Given the description of an element on the screen output the (x, y) to click on. 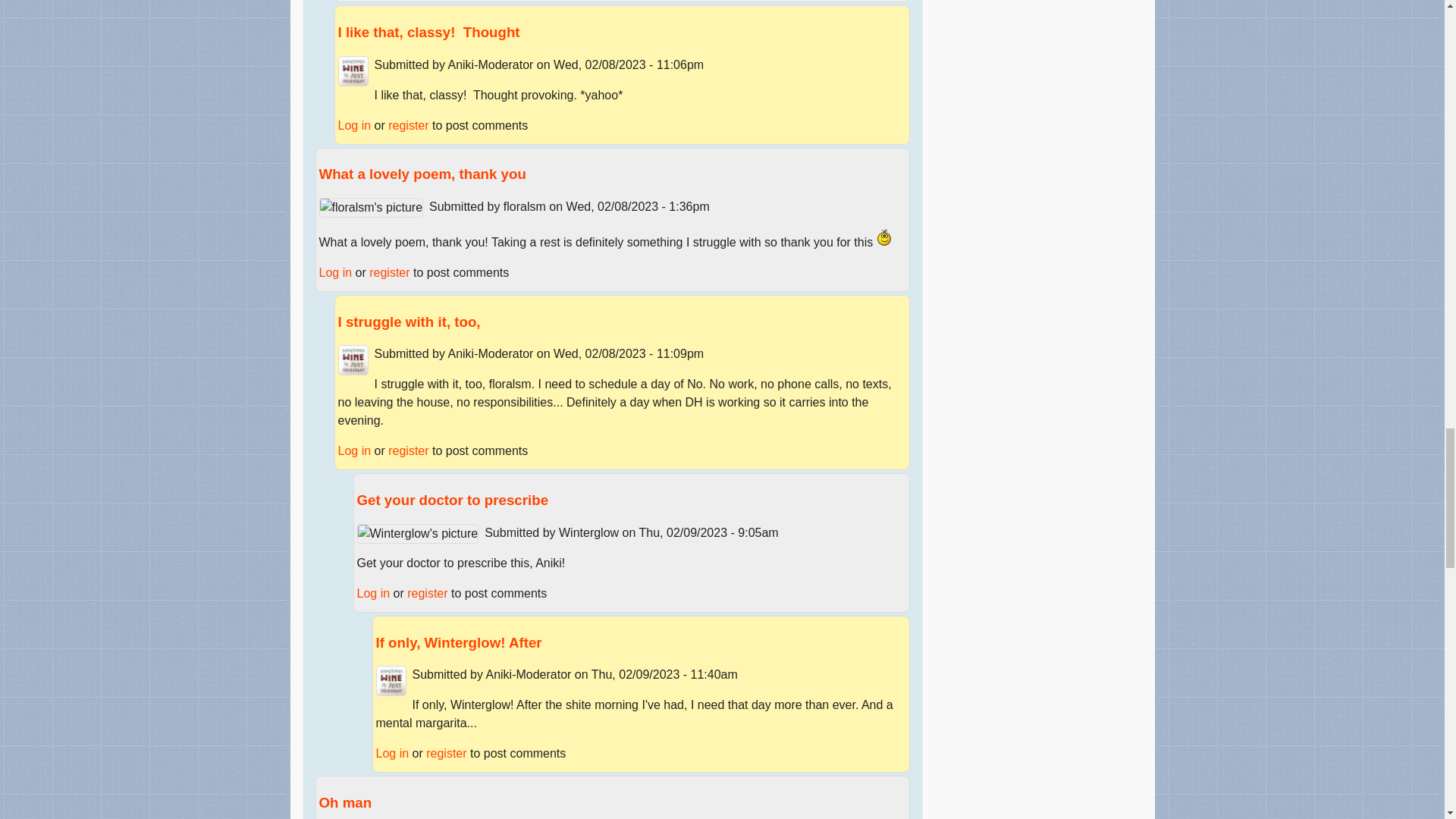
Aniki-Moderator's picture (352, 71)
Winterglow's picture (417, 533)
Aniki-Moderator's picture (352, 359)
floralsm's picture (370, 207)
